Given the description of an element on the screen output the (x, y) to click on. 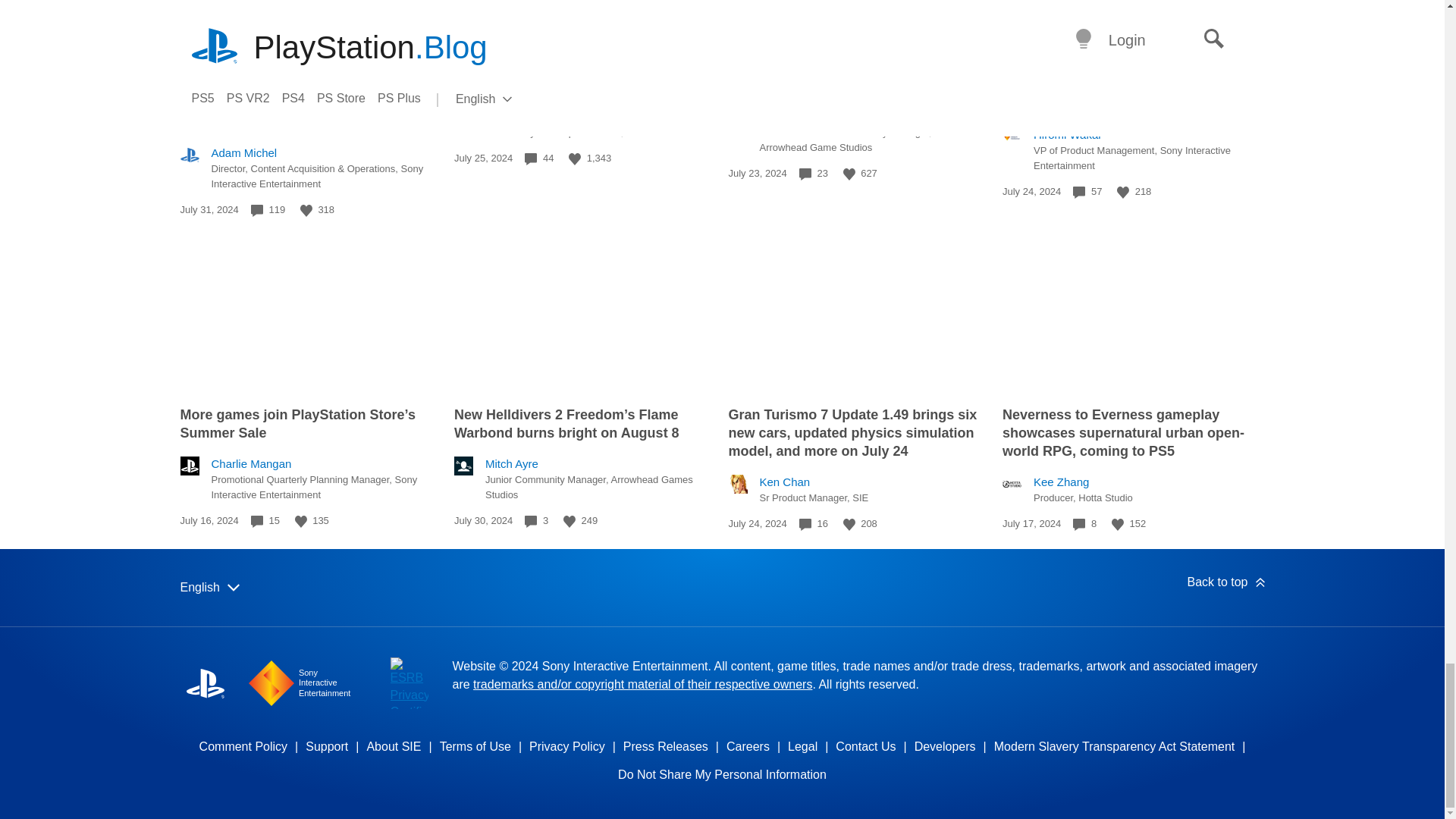
Like this (574, 159)
Like this (1122, 192)
Like this (849, 174)
Like this (306, 210)
Like this (301, 521)
